Given the description of an element on the screen output the (x, y) to click on. 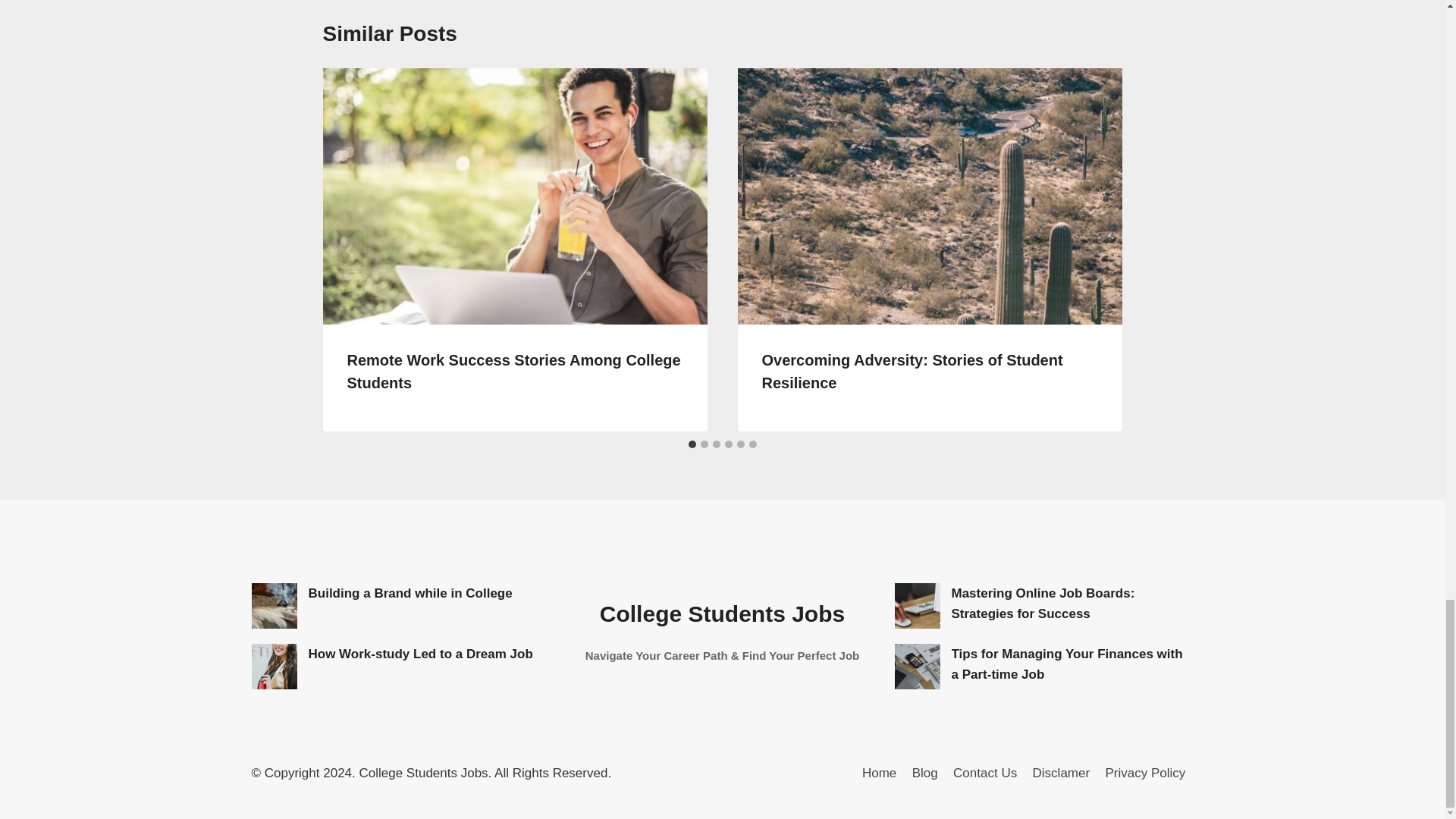
Building a Brand while in College (274, 605)
Remote Work Success Stories Among College Students (514, 371)
Mastering Online Job Boards: Strategies for Success (917, 605)
Overcoming Adversity: Stories of Student Resilience (911, 371)
How Work-study Led to a Dream Job (274, 666)
Tips for Managing Your Finances with a Part-time Job (917, 666)
